Given the description of an element on the screen output the (x, y) to click on. 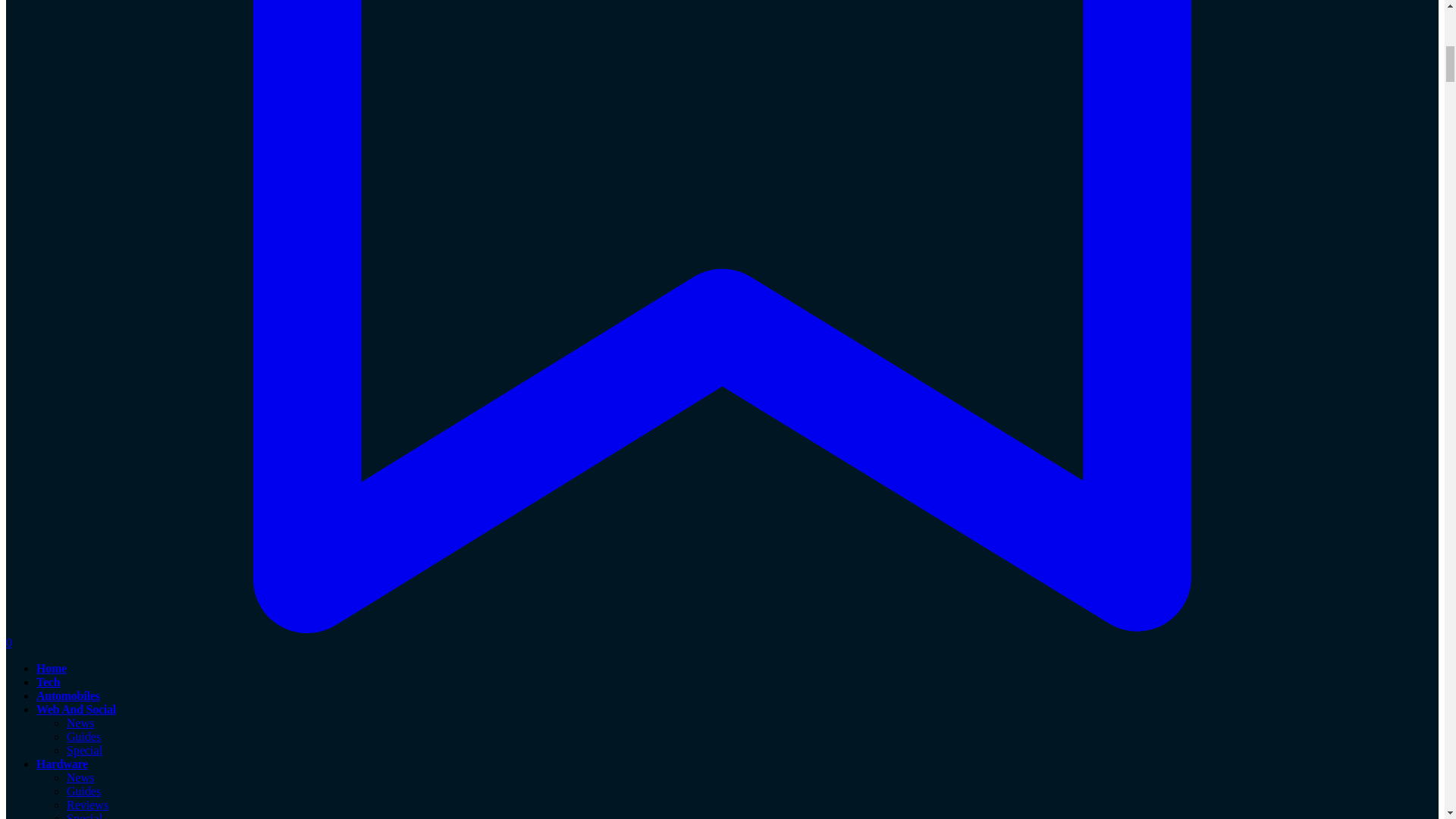
Automobiles (67, 695)
Hardware (61, 763)
Home (51, 667)
Special (83, 815)
Tech (47, 681)
Special (83, 749)
Reviews (86, 804)
Guides (83, 736)
News (80, 722)
Web And Social (76, 708)
